Given the description of an element on the screen output the (x, y) to click on. 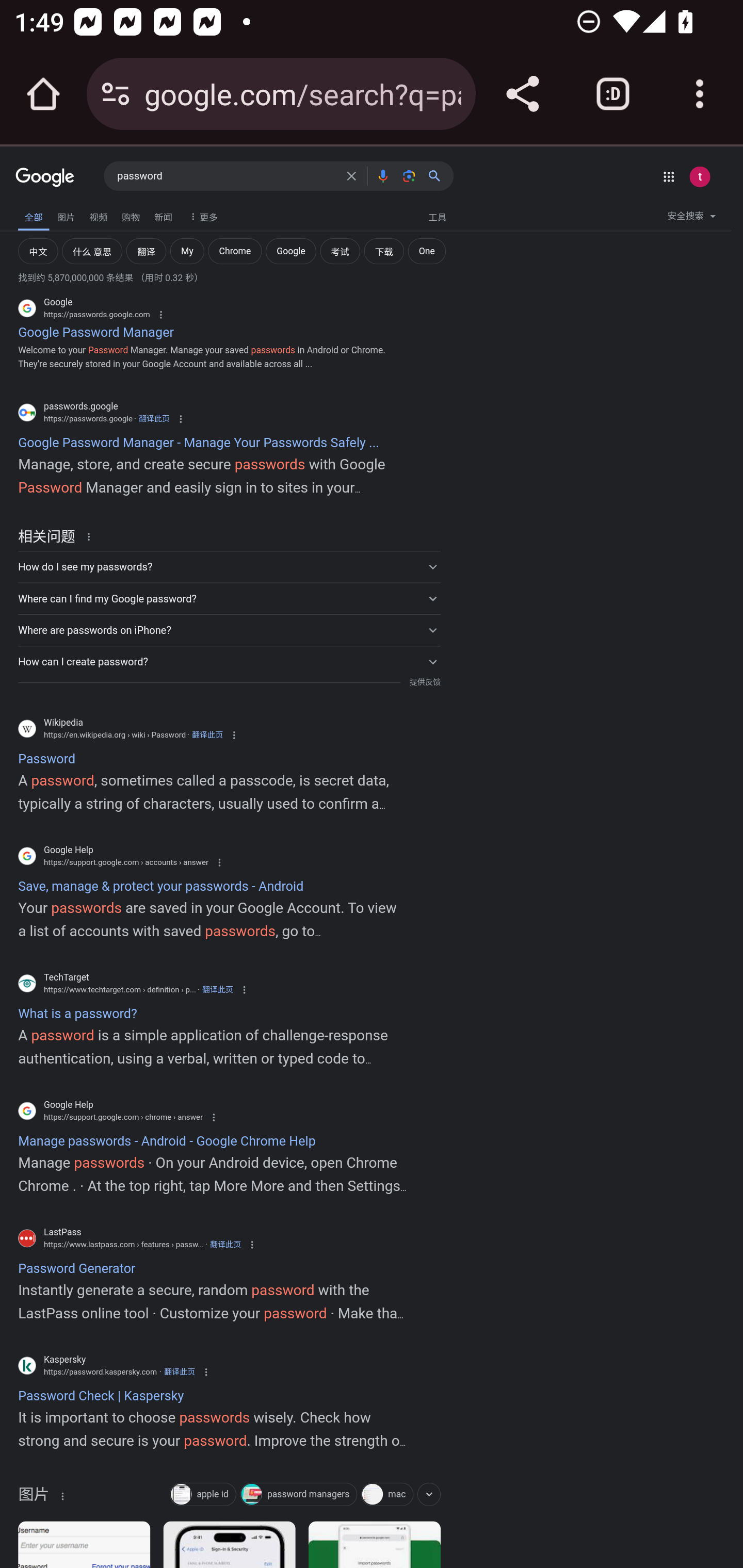
Open the home page (43, 93)
Connection is secure (115, 93)
Share (522, 93)
Switch or close tabs (612, 93)
Customize and control Google Chrome (699, 93)
清除 (351, 175)
按语音搜索 (382, 175)
按图搜索 (408, 175)
搜索 (438, 175)
Google 应用 (668, 176)
Google 账号： test appium (testappium002@gmail.com) (699, 176)
Google (45, 178)
password (225, 176)
无障碍功能反馈 (41, 212)
图片 (65, 215)
视频 (98, 215)
购物 (131, 215)
新闻 (163, 215)
更多 (201, 215)
安全搜索 (691, 218)
工具 (437, 215)
添加“中文” 中文 (37, 249)
添加“什么 意思” 什么 意思 (91, 249)
添加“翻译” 翻译 (145, 249)
添加“My” My (186, 249)
添加“Chrome” Chrome (235, 249)
添加“Google” Google (290, 249)
添加“考试” 考试 (339, 249)
添加“下载” 下载 (383, 249)
添加“One” One (426, 249)
翻译此页 (154, 418)
关于这条结果的详细信息 (92, 535)
How do I see my passwords? (228, 566)
Where can I find my Google password? (228, 598)
Where are passwords on iPhone? (228, 630)
How can I create password? (228, 662)
提供反馈 (424, 682)
翻译此页 (207, 735)
翻译此页 (217, 989)
翻译此页 (225, 1244)
翻译此页 (179, 1371)
图片 (33, 1498)
apple id (202, 1495)
password managers (298, 1495)
mac (386, 1495)
按功能过滤 (428, 1493)
关于这条结果的详细信息 (61, 1495)
Password - Wikipedia (83, 1544)
